Given the description of an element on the screen output the (x, y) to click on. 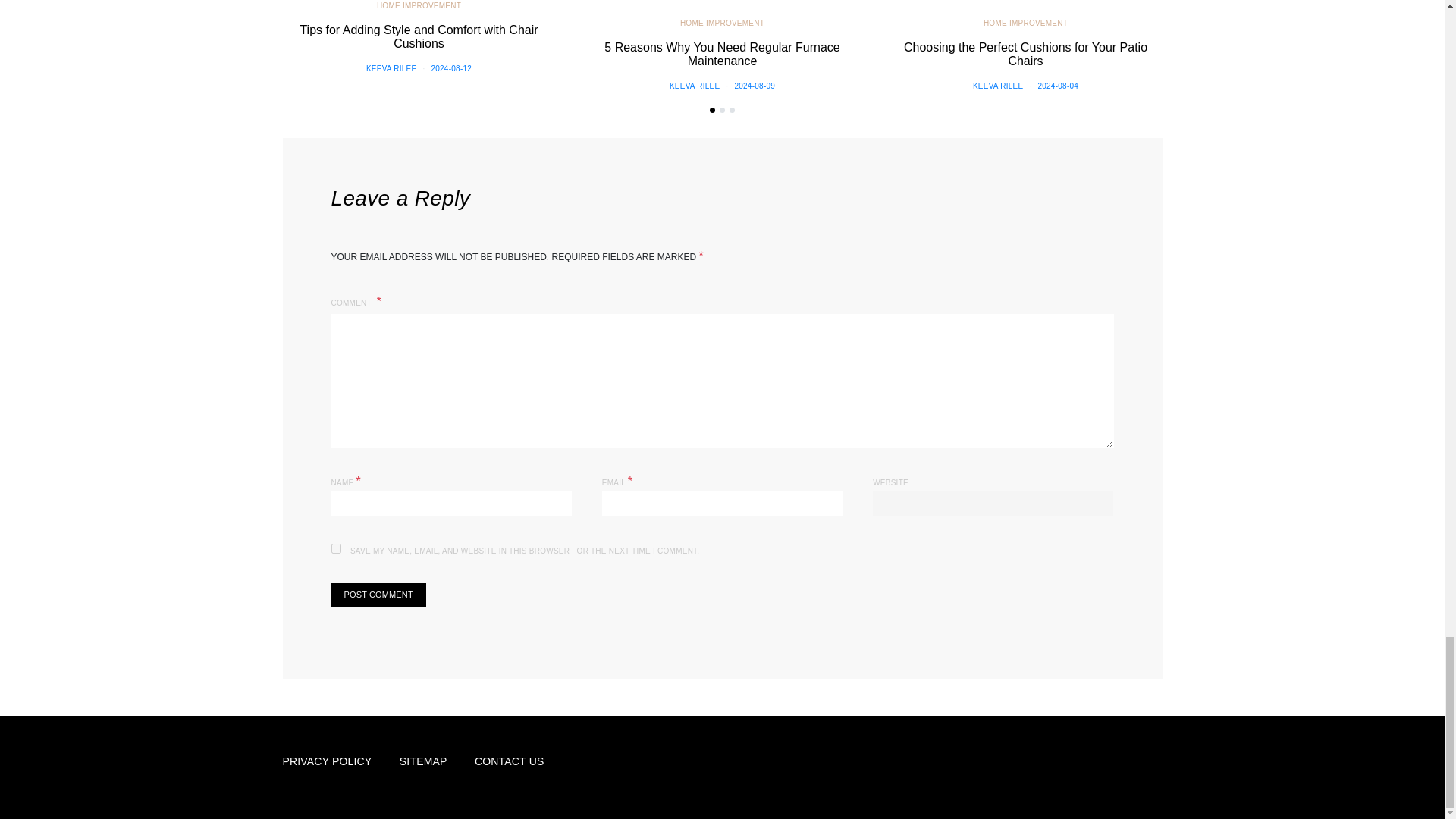
Post Comment (377, 594)
yes (335, 548)
View all posts by Keeva Rilee (391, 68)
View all posts by Keeva Rilee (997, 85)
View all posts by Keeva Rilee (694, 85)
